Given the description of an element on the screen output the (x, y) to click on. 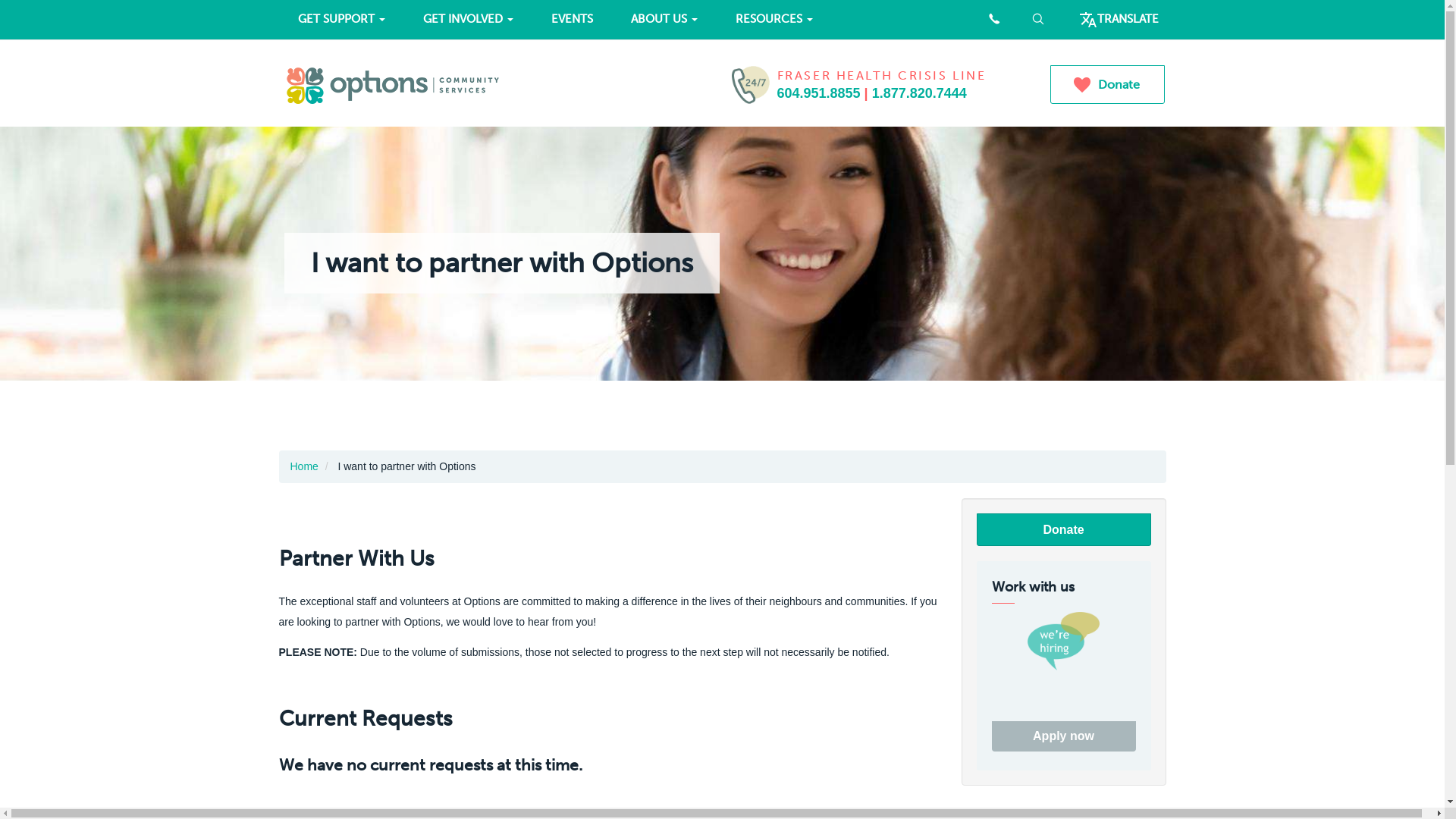
RESOURCES Element type: text (773, 18)
ABOUT US Element type: text (663, 18)
1.877.820.7444 Element type: text (919, 92)
Donate Element type: text (1107, 84)
Home Element type: text (303, 466)
Home Element type: hover (498, 84)
TRANSLATE Element type: text (1118, 19)
Apply now Element type: text (1063, 736)
Donate Element type: text (1063, 529)
GET SUPPORT Element type: text (341, 18)
GET INVOLVED Element type: text (467, 18)
604.951.8855 Element type: text (817, 92)
EVENTS Element type: text (571, 18)
